Given the description of an element on the screen output the (x, y) to click on. 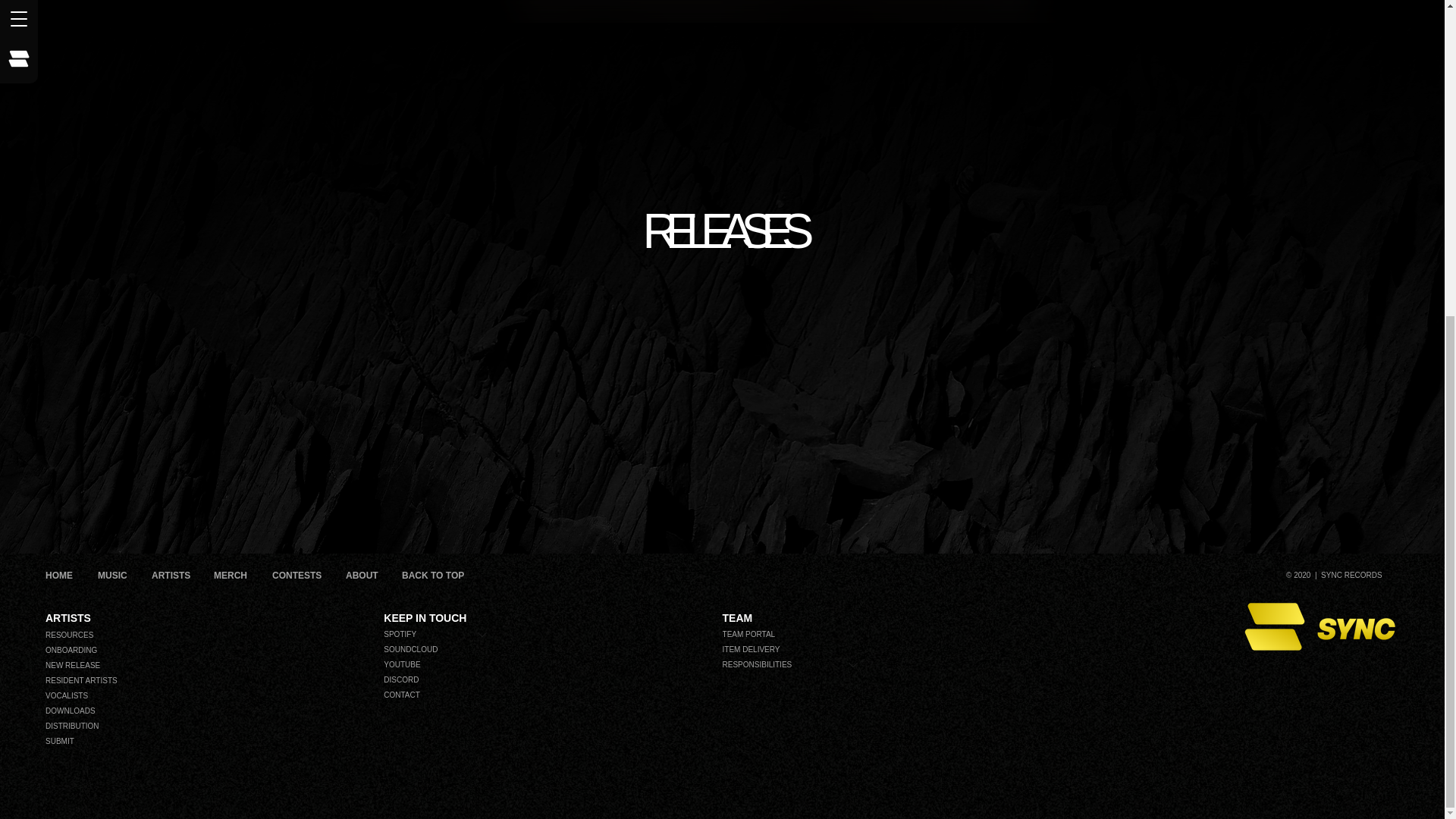
NEW RELEASE (212, 665)
DOWNLOADS (212, 711)
RESOURCES (212, 635)
VOCALISTS (212, 695)
HOME (59, 575)
ITEM DELIVERY (797, 649)
CONTACT (443, 694)
ARTISTS (170, 575)
TEAM PORTAL (797, 634)
BACK TO TOP (433, 575)
RESIDENT ARTISTS (212, 680)
DISTRIBUTION (212, 726)
ABOUT (362, 575)
MUSIC (112, 575)
ONBOARDING (212, 650)
